Given the description of an element on the screen output the (x, y) to click on. 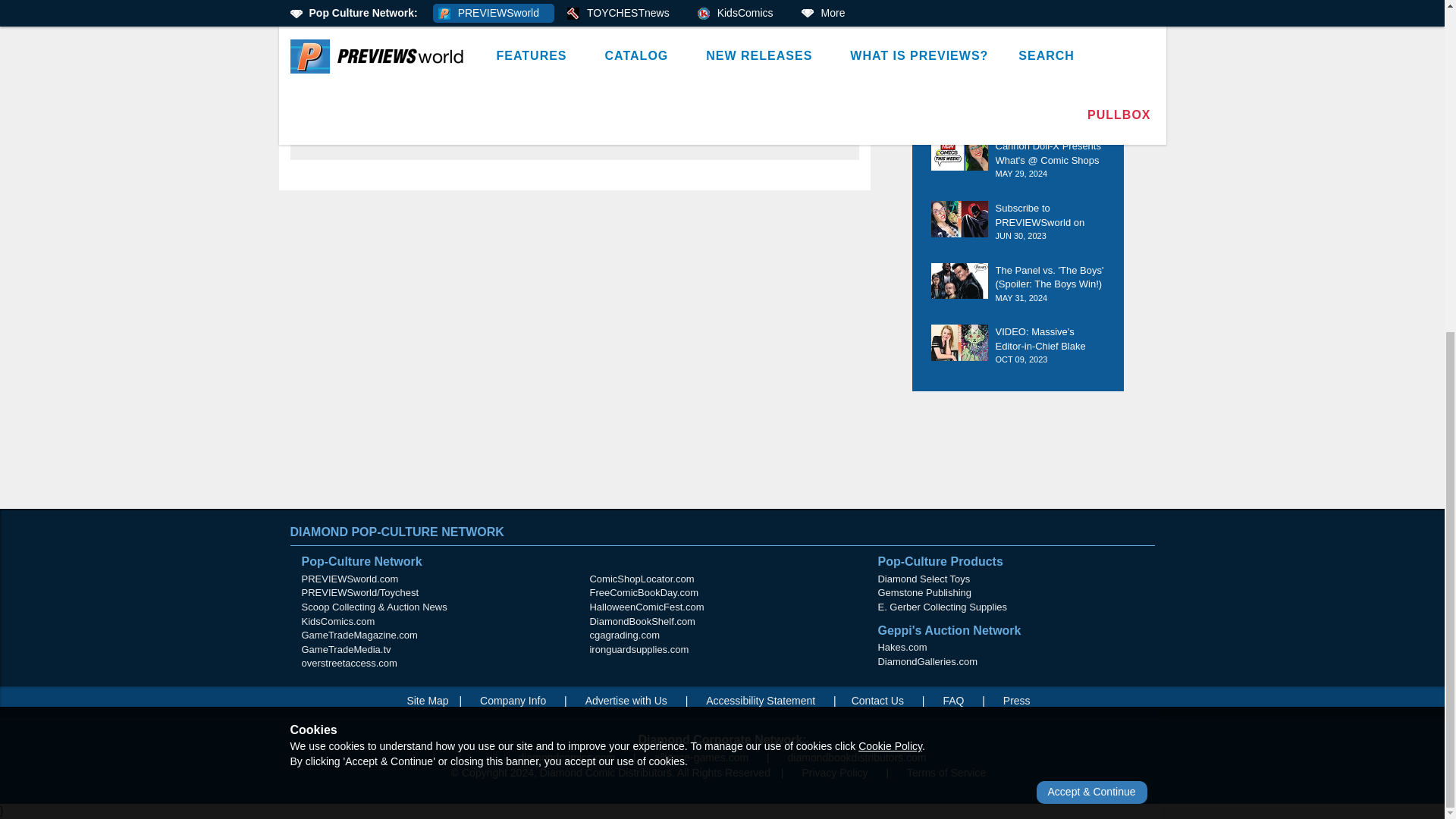
Click to Download PREVIEWS PREVUE (715, 5)
